Given the description of an element on the screen output the (x, y) to click on. 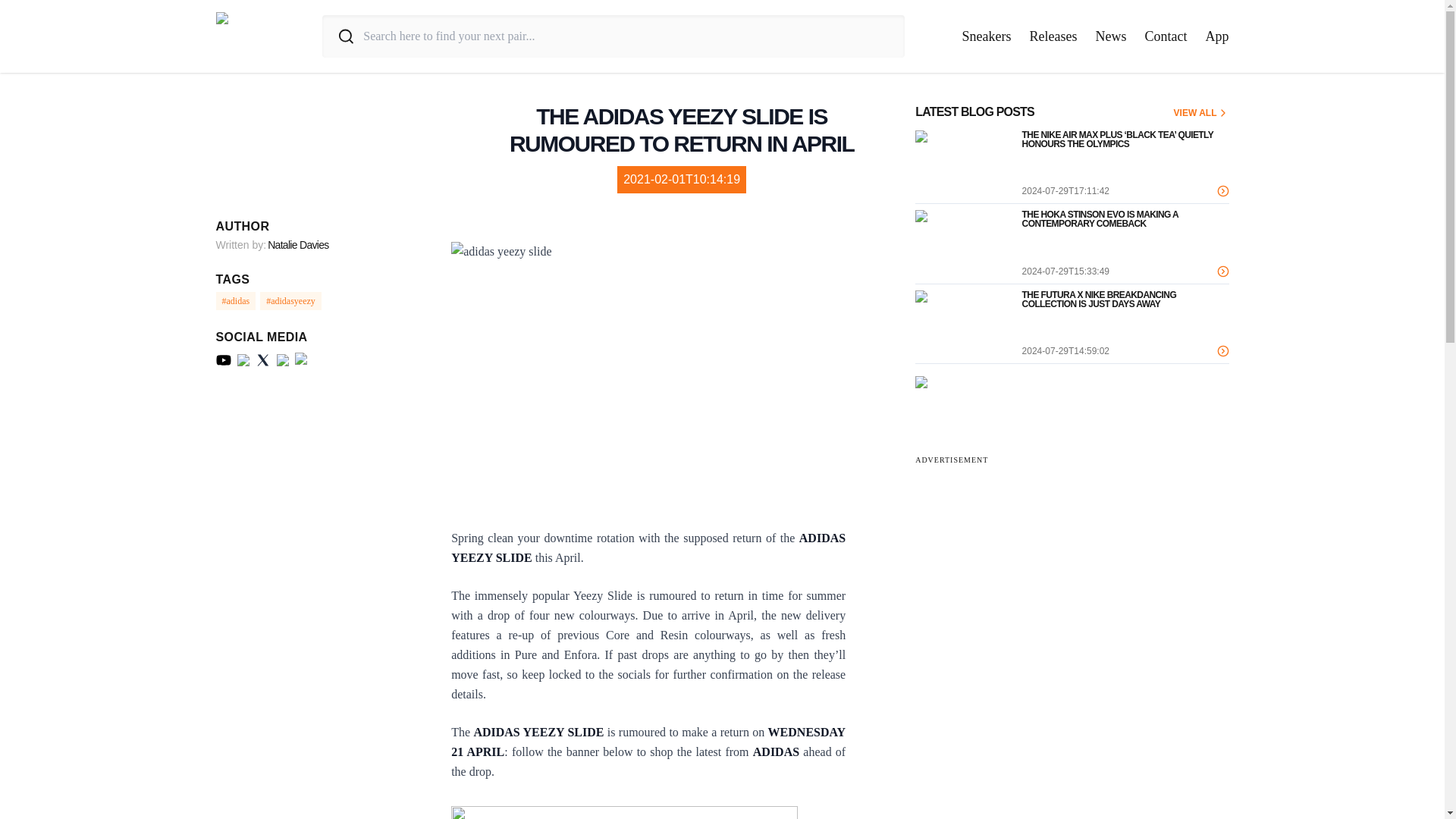
News (1109, 36)
VIEW ALL (1200, 112)
Releases (1053, 36)
Contact (1166, 36)
Sneakers (986, 36)
App (1216, 36)
